Given the description of an element on the screen output the (x, y) to click on. 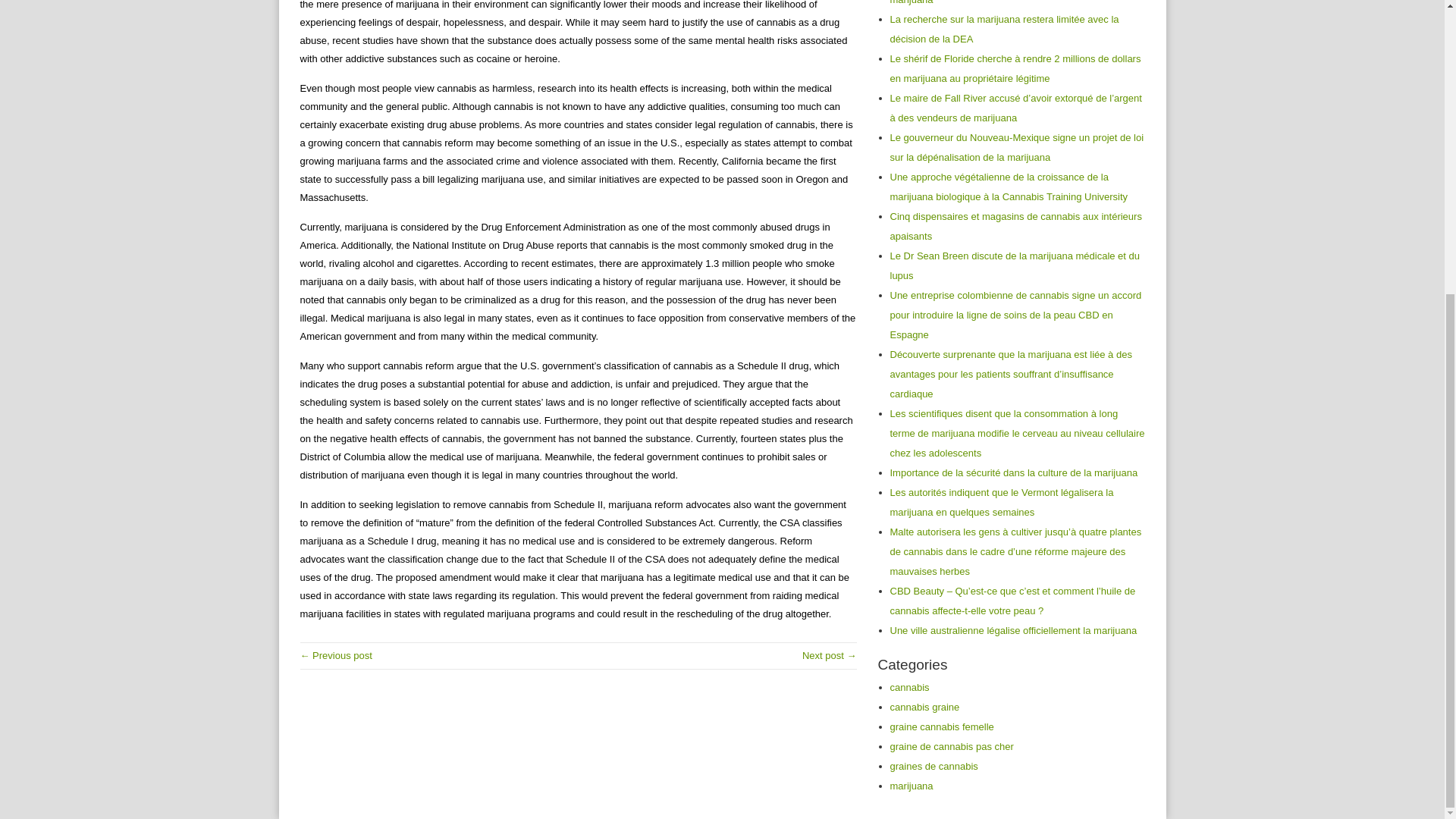
graines de cannabis (933, 766)
graine cannabis femelle (941, 726)
marijuana (911, 785)
graine de cannabis pas cher (951, 746)
big bud xxl auto (829, 655)
cannabis (909, 686)
cannabis graine (924, 706)
